Given the description of an element on the screen output the (x, y) to click on. 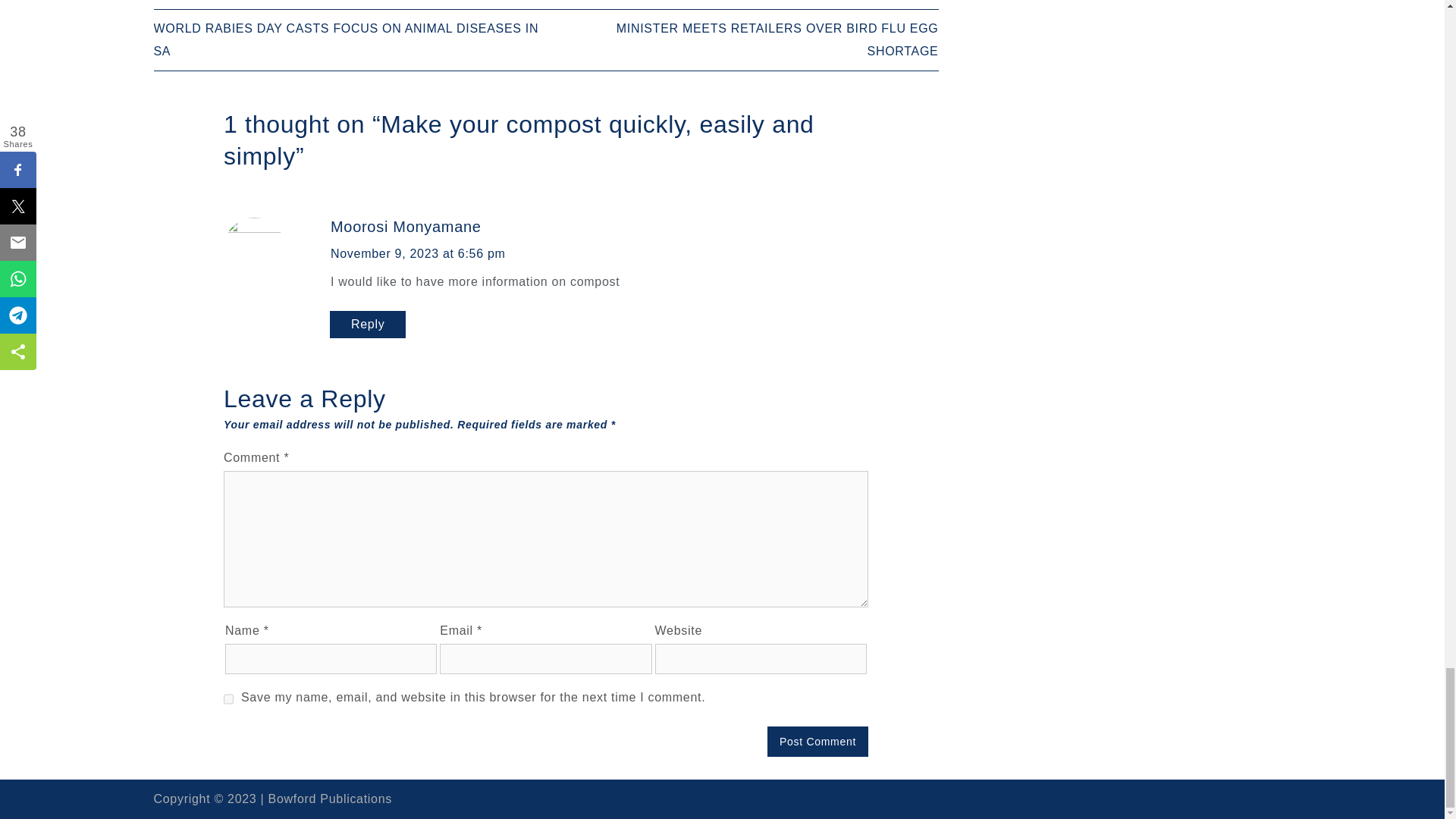
Post Comment (817, 741)
WORLD RABIES DAY CASTS FOCUS ON ANIMAL DISEASES IN SA (345, 39)
Post Comment (817, 741)
Reply (368, 324)
November 9, 2023 at 6:56 pm (417, 253)
MINISTER MEETS RETAILERS OVER BIRD FLU EGG SHORTAGE (777, 39)
